Given the description of an element on the screen output the (x, y) to click on. 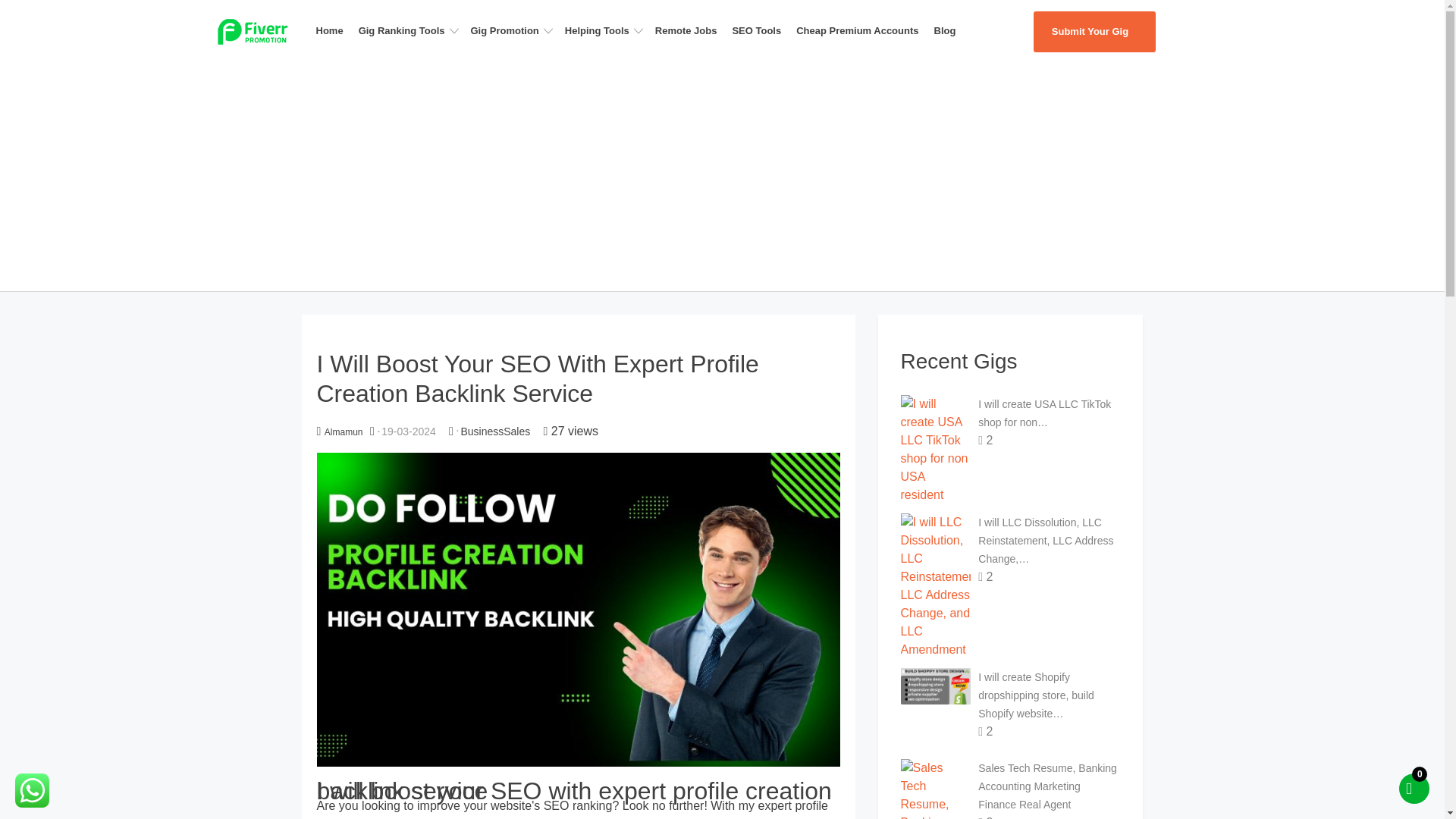
Gig Ranking Tools (411, 30)
BusinessSales (494, 430)
SEO Tools (761, 30)
Almamun (343, 430)
Gig Promotion (513, 30)
Submit Your Gig (1094, 31)
Helping Tools (607, 30)
Remote Jobs (690, 30)
Blog (949, 30)
19-03-2024 (408, 430)
Home (334, 30)
Cheap Premium Accounts (861, 30)
